Given the description of an element on the screen output the (x, y) to click on. 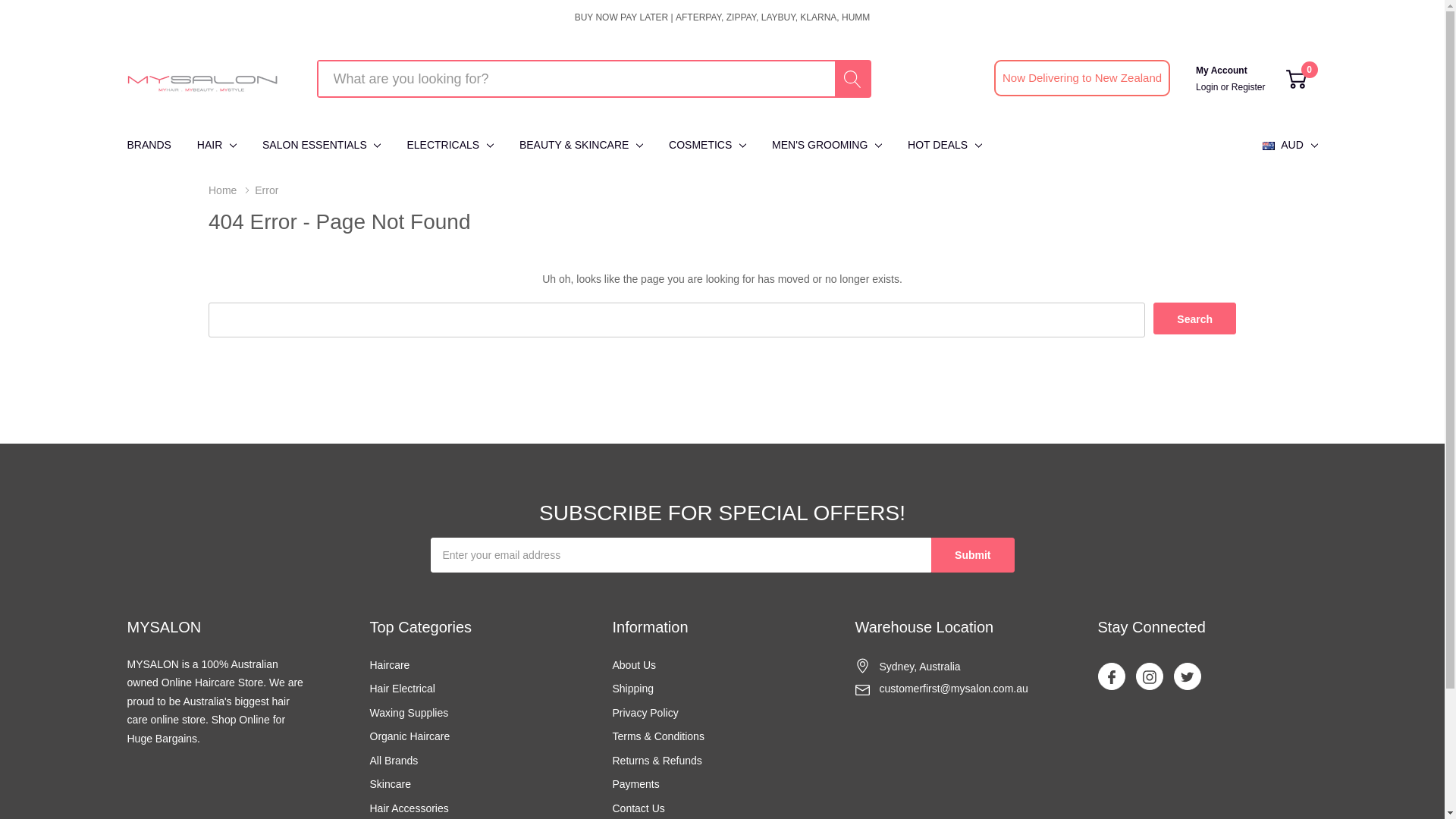
About Us Element type: text (634, 665)
Organic Haircare Element type: text (410, 736)
Login Element type: text (1207, 86)
All Brands Element type: text (394, 761)
Home Element type: text (231, 189)
Haircare Element type: text (390, 665)
Search Element type: text (1194, 318)
HOT DEALS Element type: text (937, 144)
Register Element type: text (1248, 86)
MEN'S GROOMING Element type: text (819, 144)
Returns & Refunds Element type: text (657, 761)
BUY NOW PAY LATER | AFTERPAY, ZIPPAY, LAYBUY, KLARNA, HUMM Element type: text (722, 17)
Open Facebook in a new tab Element type: hover (1110, 677)
Hair Electrical Element type: text (402, 689)
Terms & Conditions Element type: text (658, 736)
Skincare Element type: text (390, 784)
Open Twitter in a new tab Element type: hover (1186, 677)
Payments Element type: text (635, 784)
Submit Element type: text (972, 554)
Waxing Supplies Element type: text (409, 713)
COSMETICS Element type: text (699, 144)
SALON ESSENTIALS Element type: text (314, 144)
BEAUTY & SKINCARE Element type: text (573, 144)
ELECTRICALS Element type: text (442, 144)
BRANDS Element type: text (155, 145)
HAIR Element type: text (209, 144)
Shipping Element type: text (633, 689)
MYSALON Element type: hover (203, 78)
Open Instagram in a new tab Element type: hover (1148, 677)
0 Element type: text (1296, 78)
customerfirst@mysalon.com.au Element type: text (953, 689)
Privacy Policy Element type: text (645, 713)
